Given the description of an element on the screen output the (x, y) to click on. 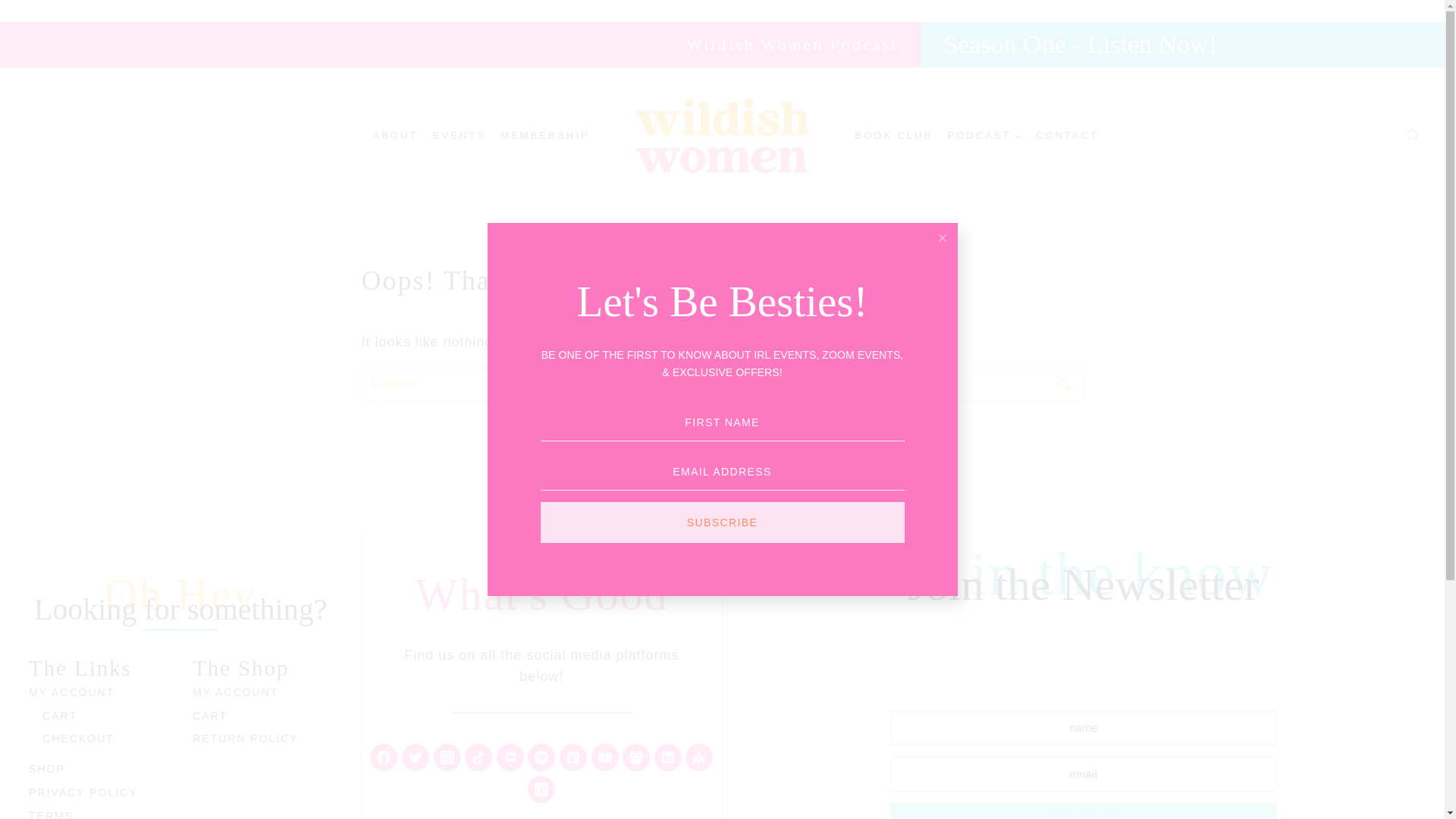
CHECKOUT (105, 739)
PRIVACY POLICY (98, 792)
MEMBERSHIP (544, 135)
BOOK CLUB (893, 135)
SIGN ME UP! (1082, 811)
SUBSCRIBE (722, 522)
Search (1064, 383)
RETURN POLICY (261, 739)
MY ACCOUNT (261, 692)
CONTACT (1066, 135)
